Given the description of an element on the screen output the (x, y) to click on. 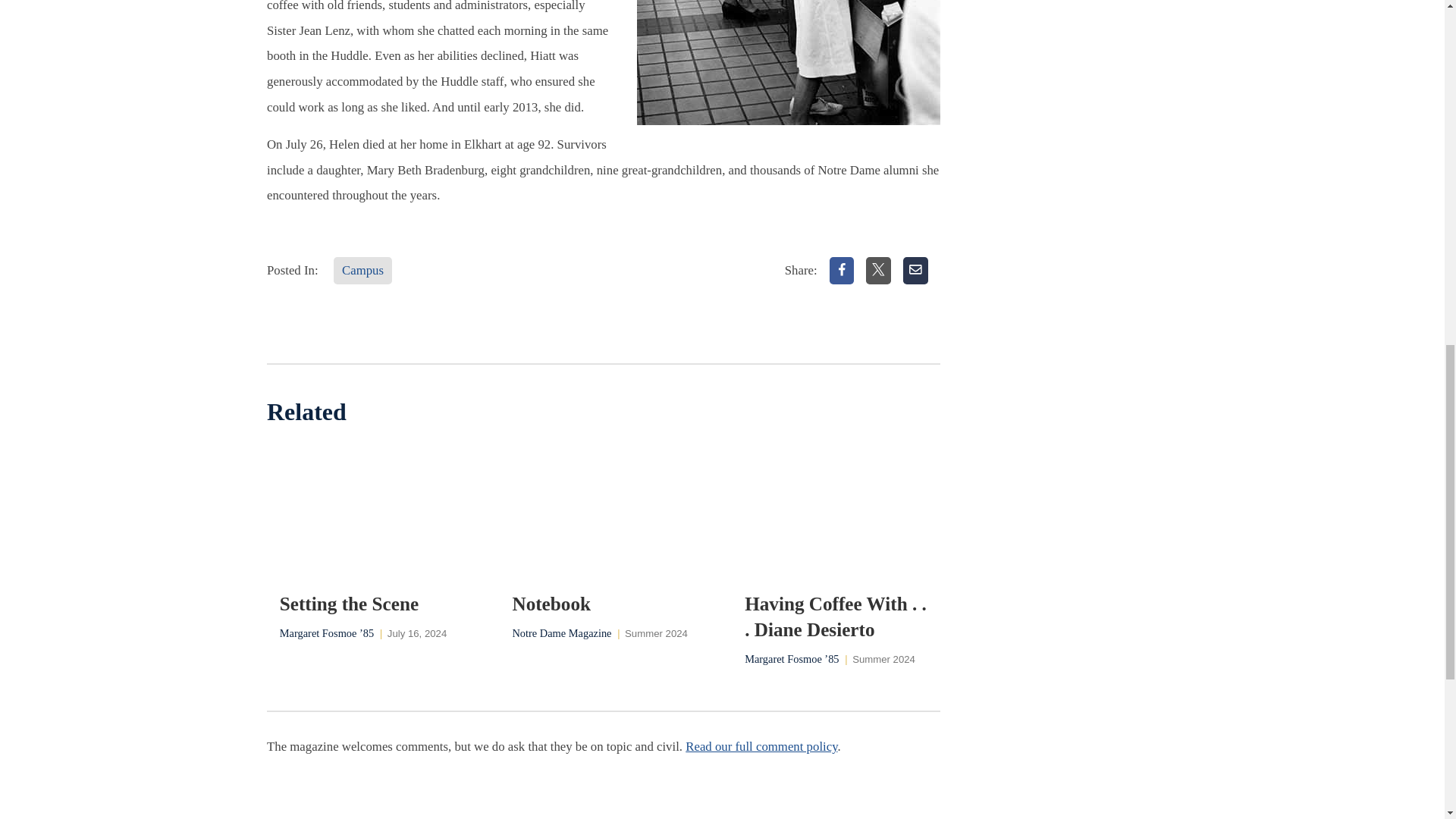
Facebook (841, 270)
Email (915, 270)
Notebook (603, 604)
Setting the Scene (371, 604)
Read our full comment policy (761, 746)
Campus (362, 270)
Having Coffee With . . . Diane Desierto (835, 616)
